Given the description of an element on the screen output the (x, y) to click on. 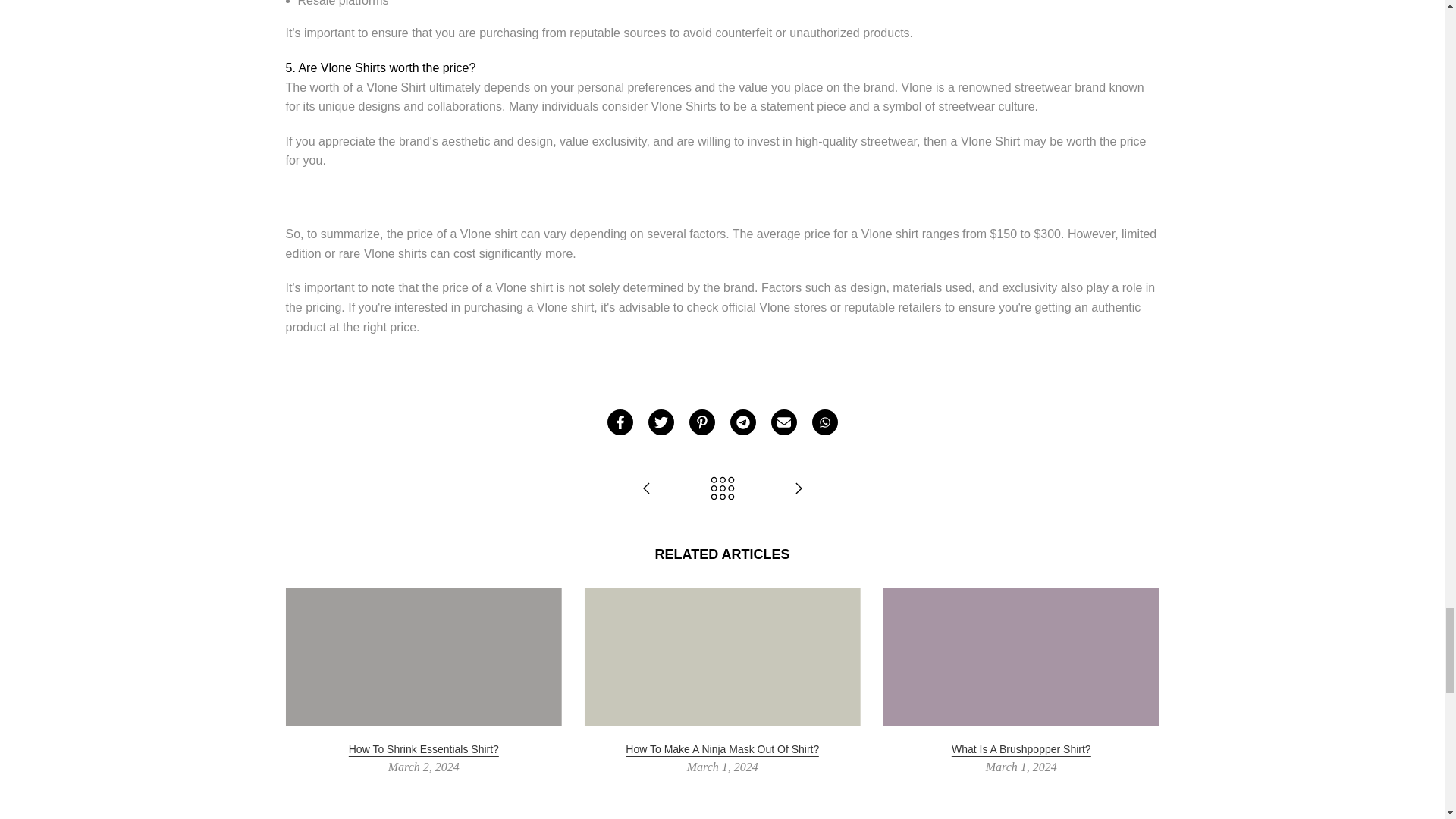
How To Cut Sleeves Off T-Shirt Girl? (646, 489)
What Does Sheldon's 73 Shirt Mean? (797, 489)
Share on Email (783, 421)
Share on Pinterest (701, 421)
Share on Telegram (742, 421)
Back to Shirts (722, 489)
Share on Twitter (659, 421)
Share on Facebook (619, 421)
Share on WhatsApp (823, 421)
